Given the description of an element on the screen output the (x, y) to click on. 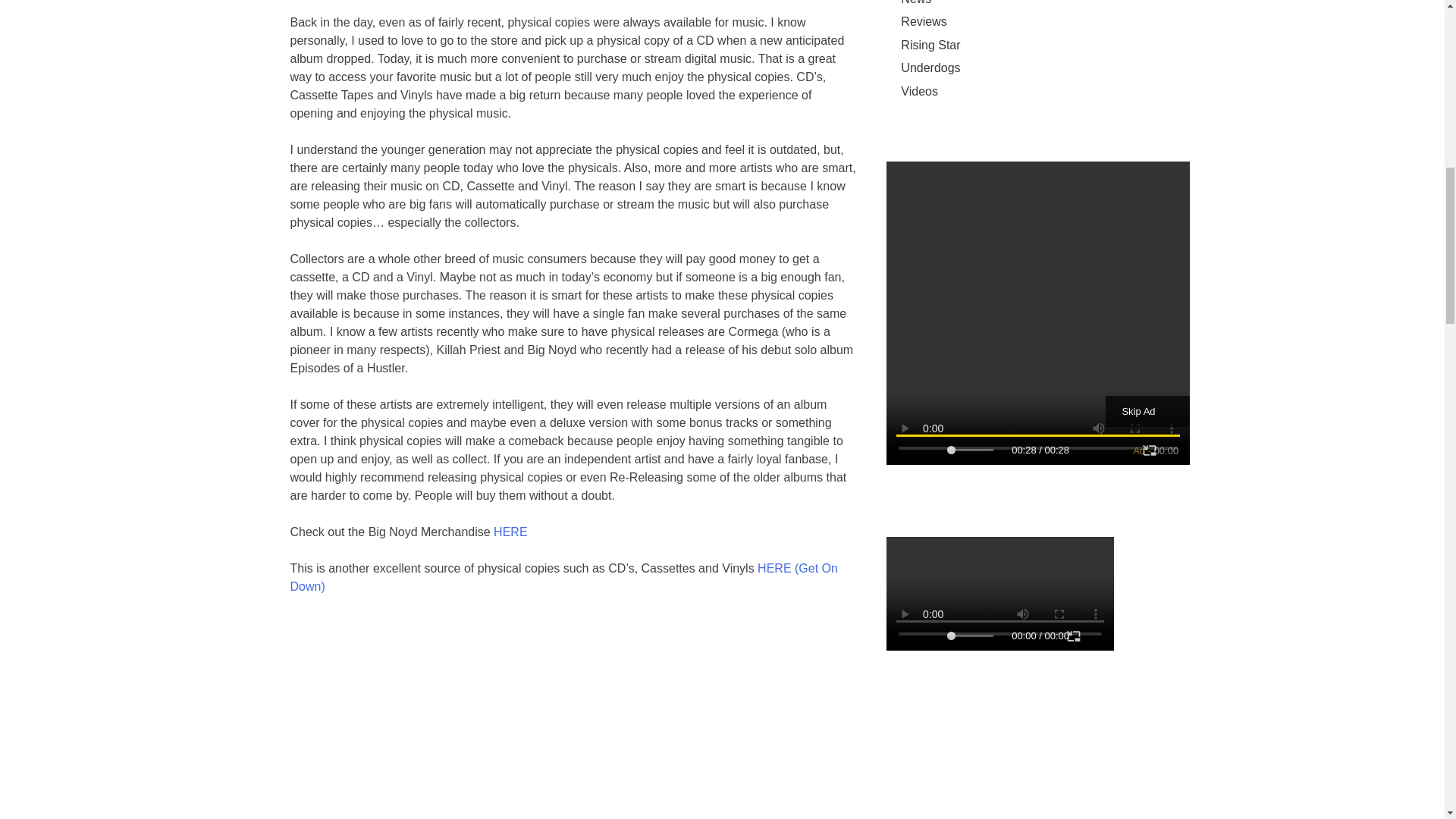
YouTube player (572, 716)
HERE (510, 531)
